Given the description of an element on the screen output the (x, y) to click on. 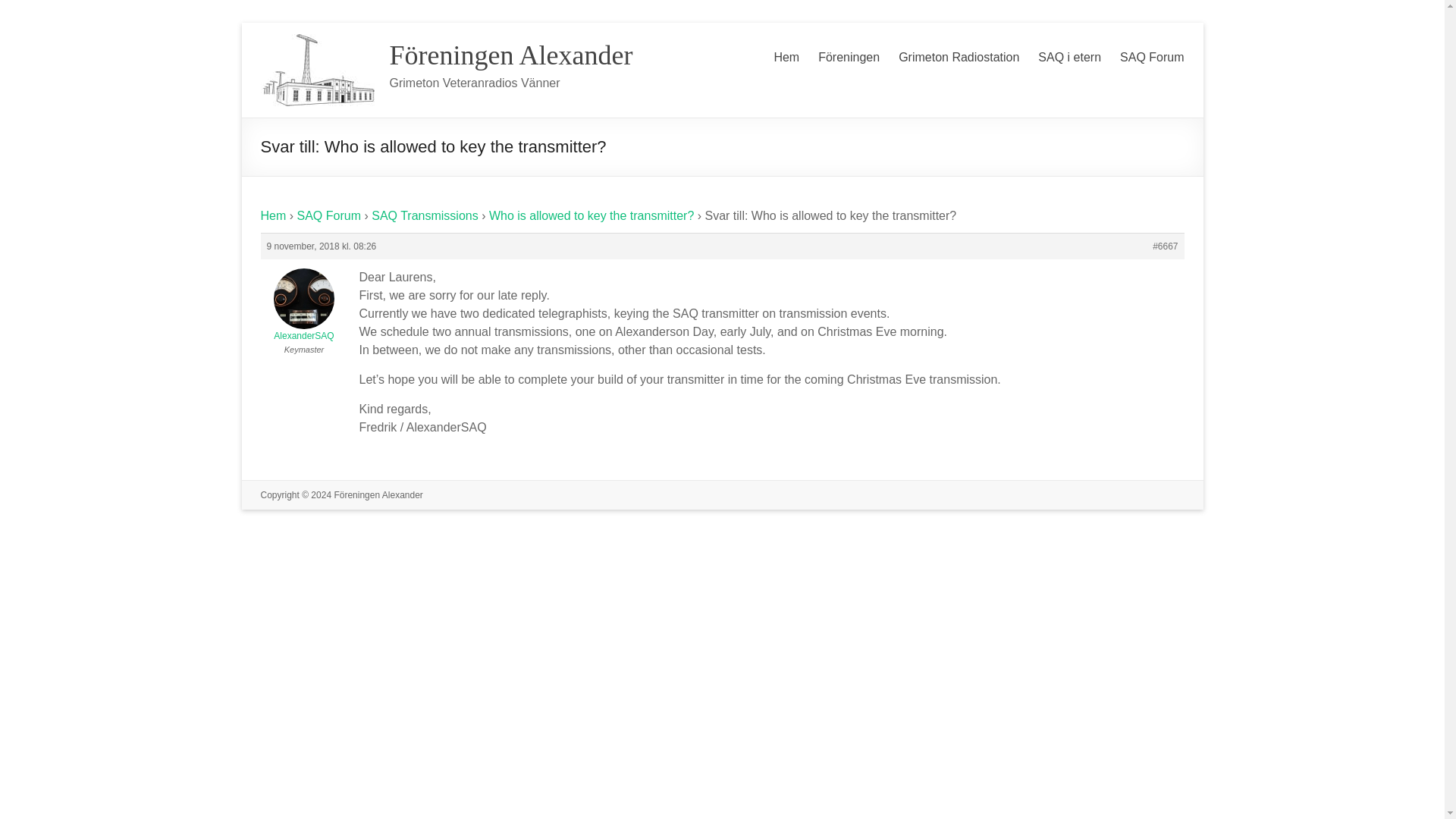
Who is allowed to key the transmitter? (591, 215)
SAQ Forum (1151, 54)
SAQ i etern (1069, 54)
AlexanderSAQ (303, 302)
Hem (273, 215)
SAQ Transmissions (424, 215)
SAQ Forum (329, 215)
Grimeton Radiostation (958, 54)
